Given the description of an element on the screen output the (x, y) to click on. 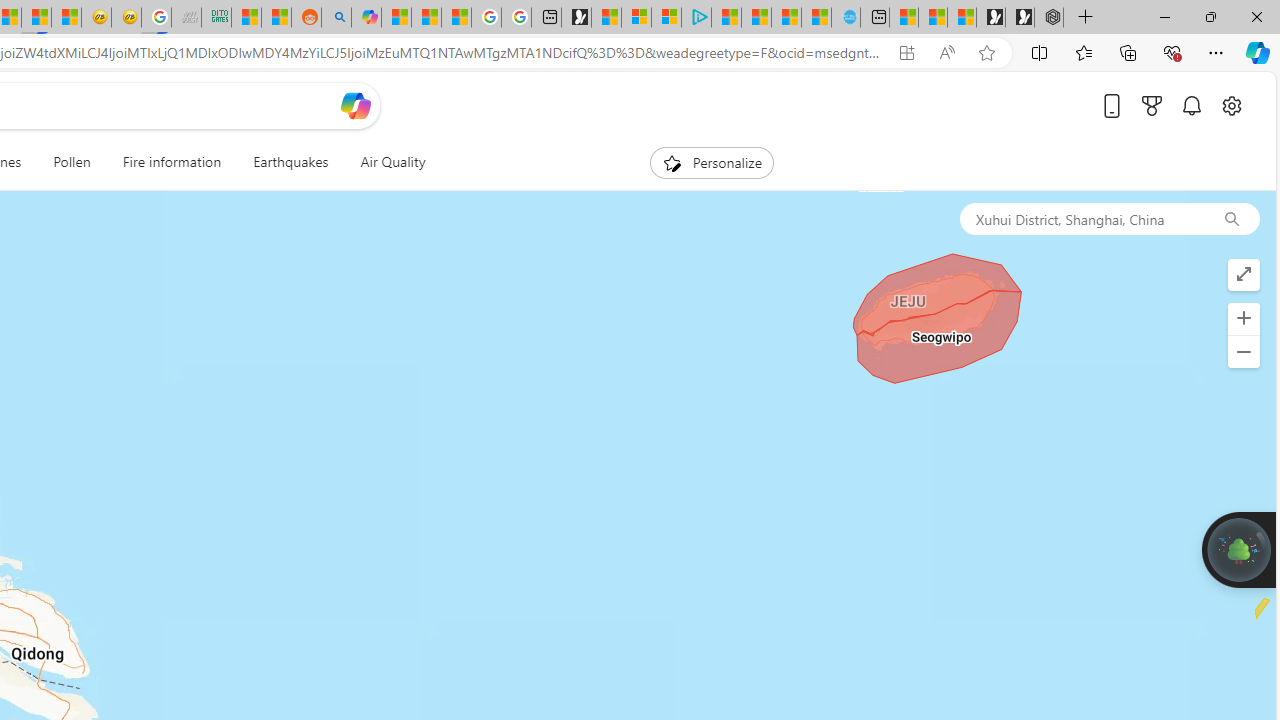
Join us in planting real trees to help our planet! (1239, 548)
Microsoft Copilot in Bing (366, 17)
Air Quality (385, 162)
Earthquakes (290, 162)
